Given the description of an element on the screen output the (x, y) to click on. 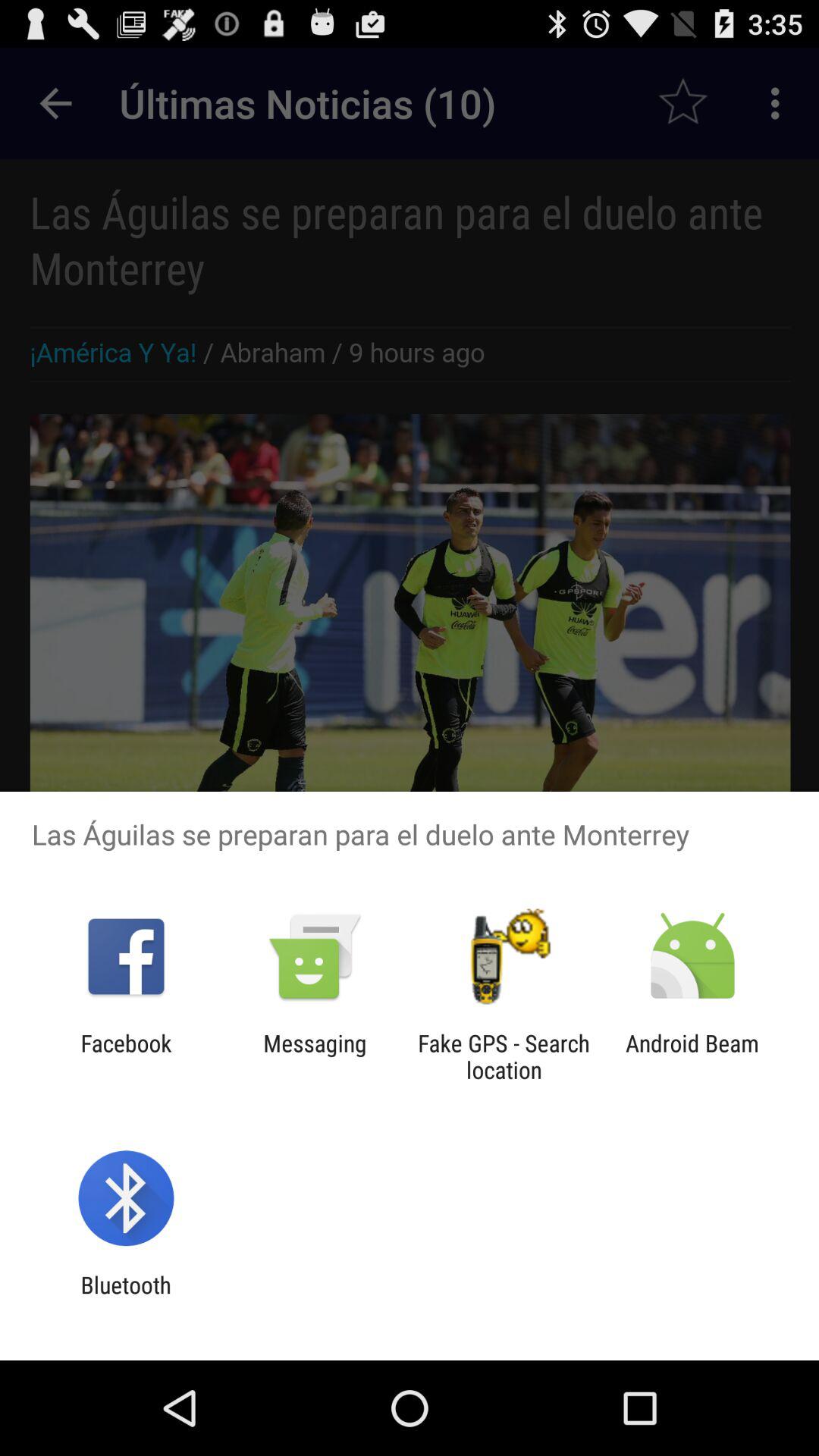
jump to the fake gps search (503, 1056)
